Given the description of an element on the screen output the (x, y) to click on. 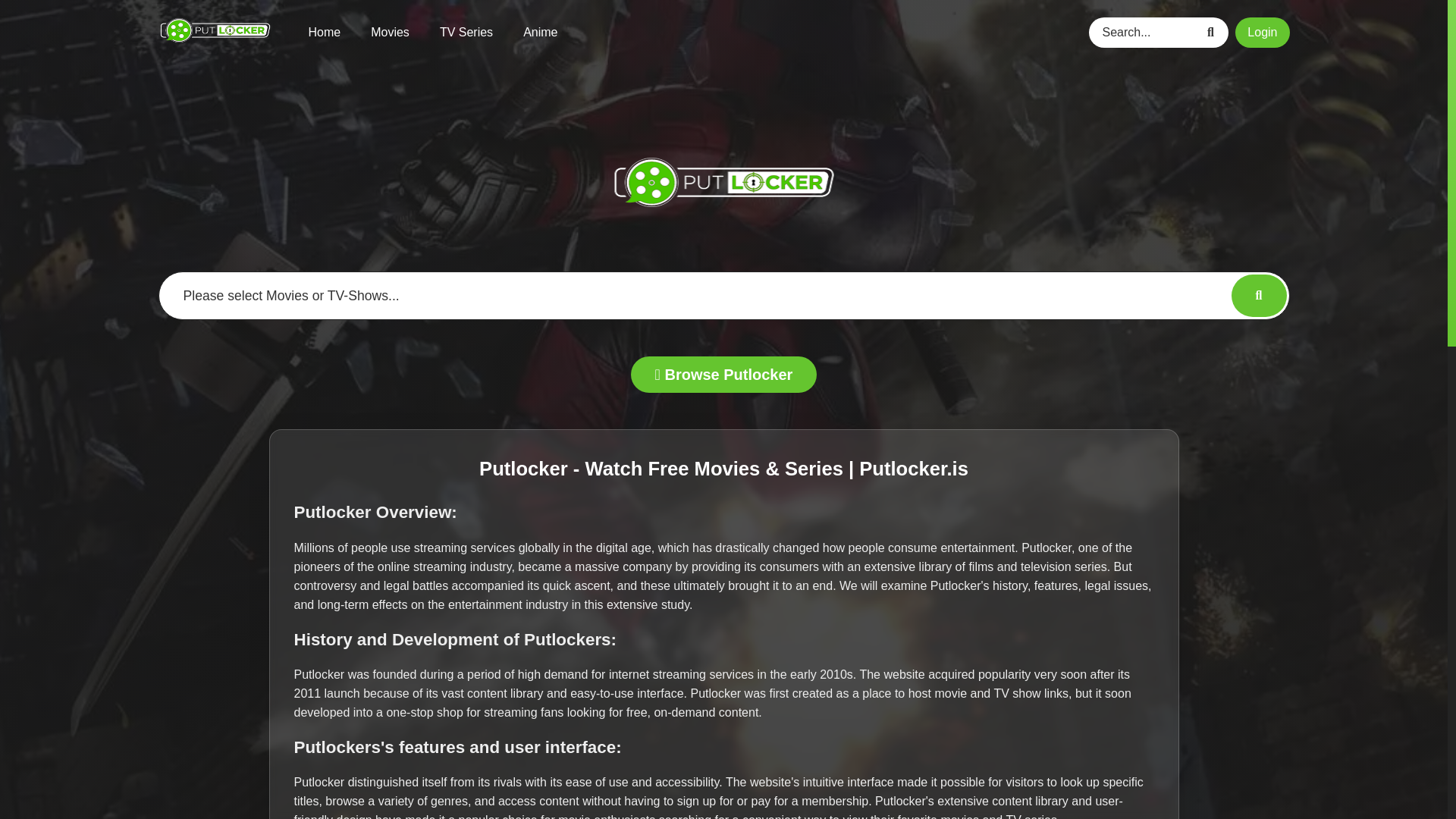
Movies (390, 31)
Anime (539, 31)
Search (1213, 31)
TV Series (466, 31)
Login (1261, 31)
 Browse Putlocker (723, 374)
Home (323, 31)
